Given the description of an element on the screen output the (x, y) to click on. 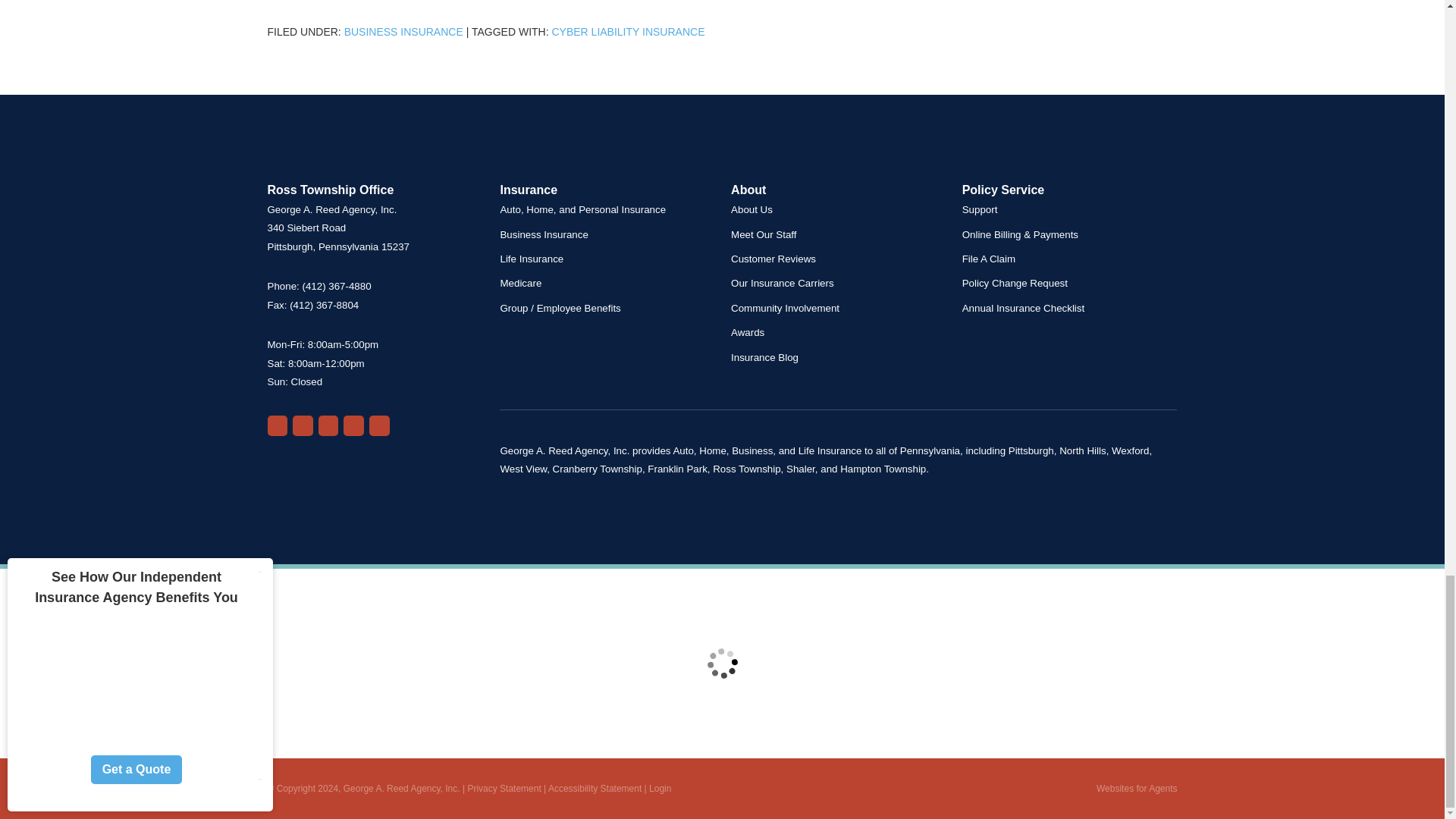
Yelp (302, 425)
X (353, 425)
Facebook (328, 425)
Google Maps (276, 425)
Cyber Liability Insurance (627, 31)
Business Insurance (403, 31)
LinkedIn (379, 425)
